Given the description of an element on the screen output the (x, y) to click on. 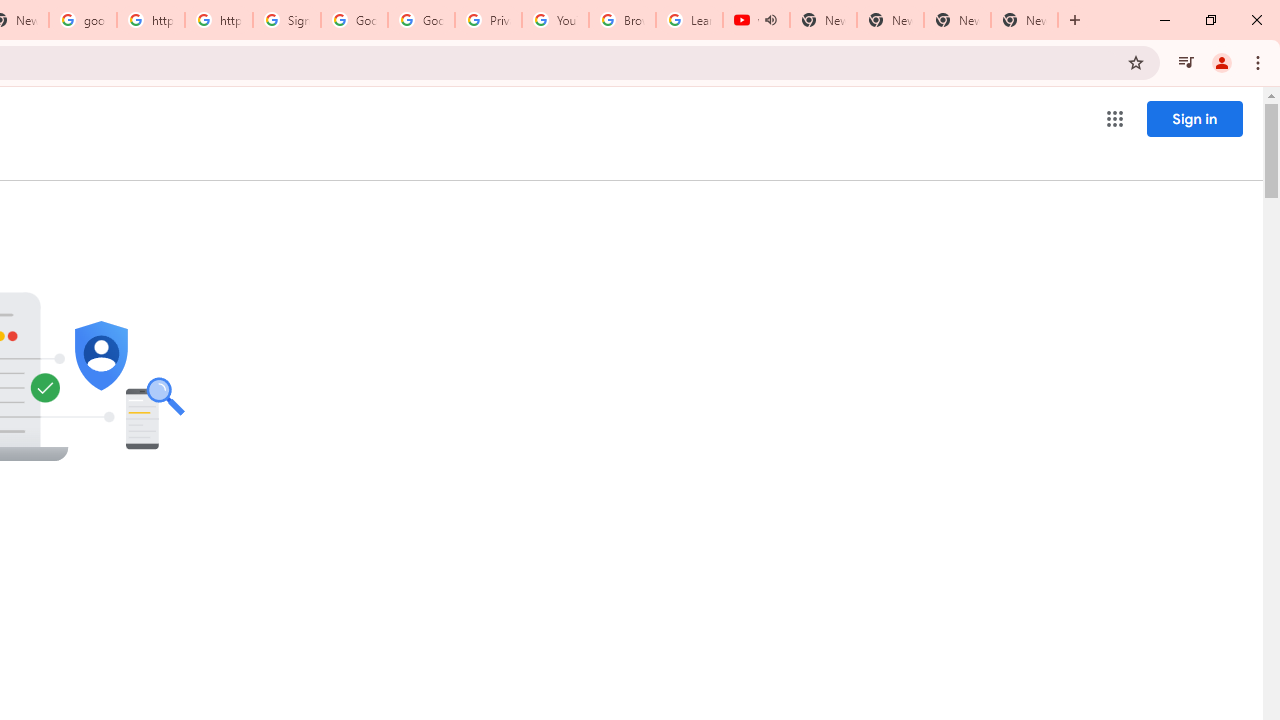
YouTube (555, 20)
New Tab (1024, 20)
https://scholar.google.com/ (219, 20)
